Given the description of an element on the screen output the (x, y) to click on. 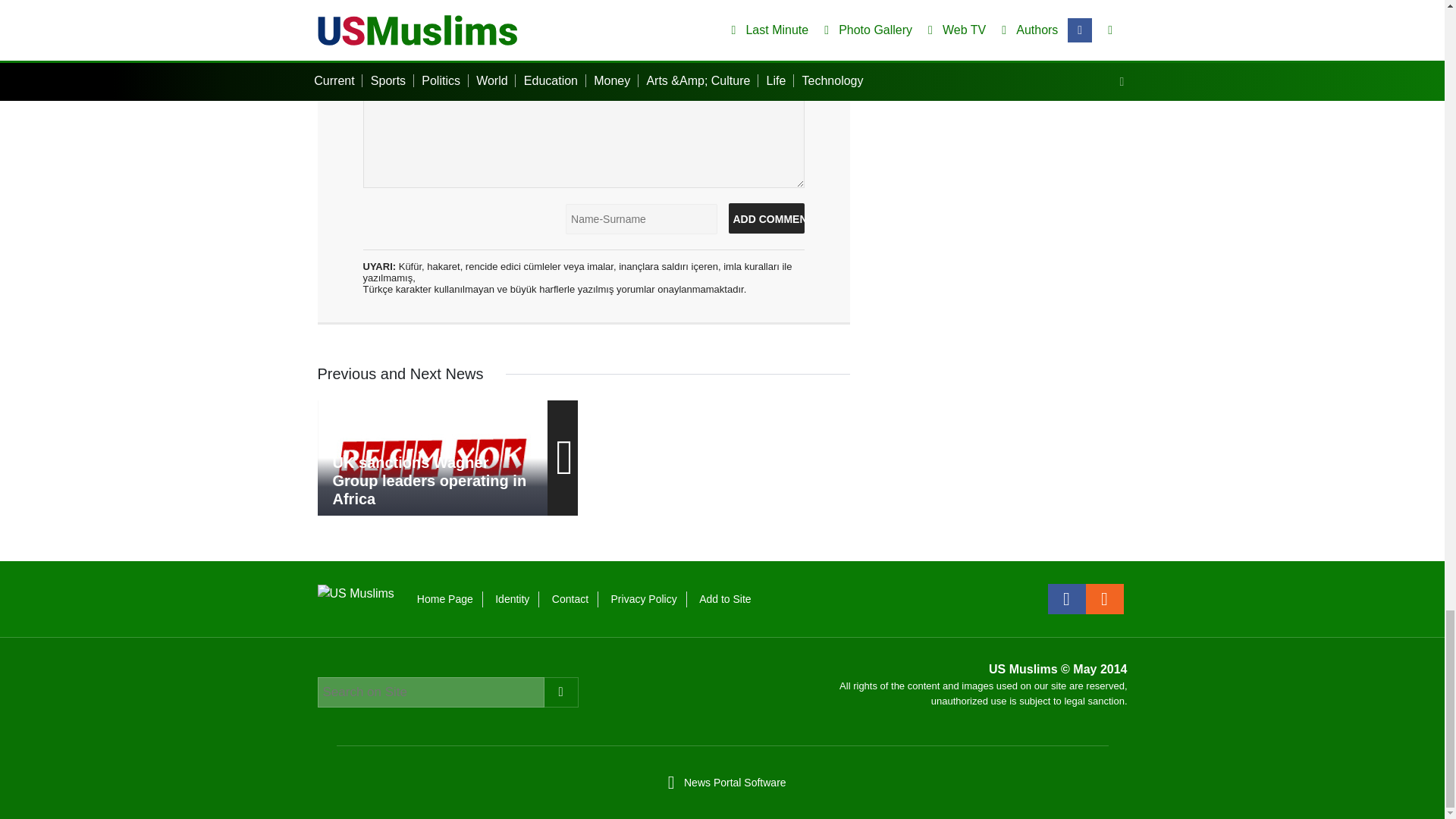
Identity (512, 598)
UK sanctions Wagner Group leaders operating in Africa (432, 457)
ADD COMMENT (765, 218)
Home Page (444, 598)
ADD COMMENT (765, 218)
US Muslims (355, 592)
Home Page (444, 598)
